Given the description of an element on the screen output the (x, y) to click on. 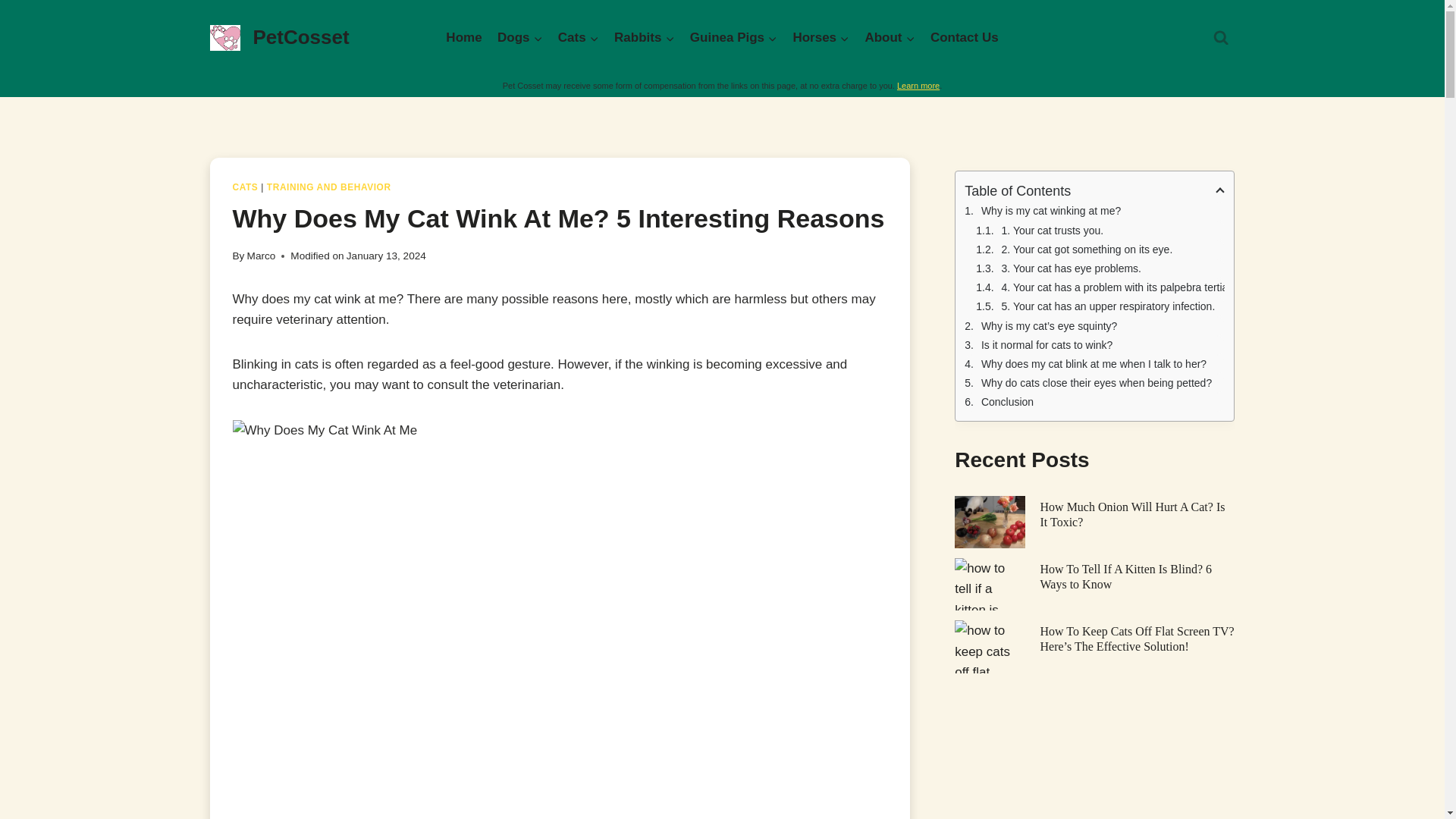
Cats (578, 37)
PetCosset (279, 38)
Rabbits (644, 37)
How To Tell If A Kitten Is Blind? 6 Ways to Know 7 (990, 583)
How Much Onion Will Hurt A Cat? Is It Toxic? 6 (990, 521)
Home (463, 37)
Dogs (519, 37)
Guinea Pigs (734, 37)
